Given the description of an element on the screen output the (x, y) to click on. 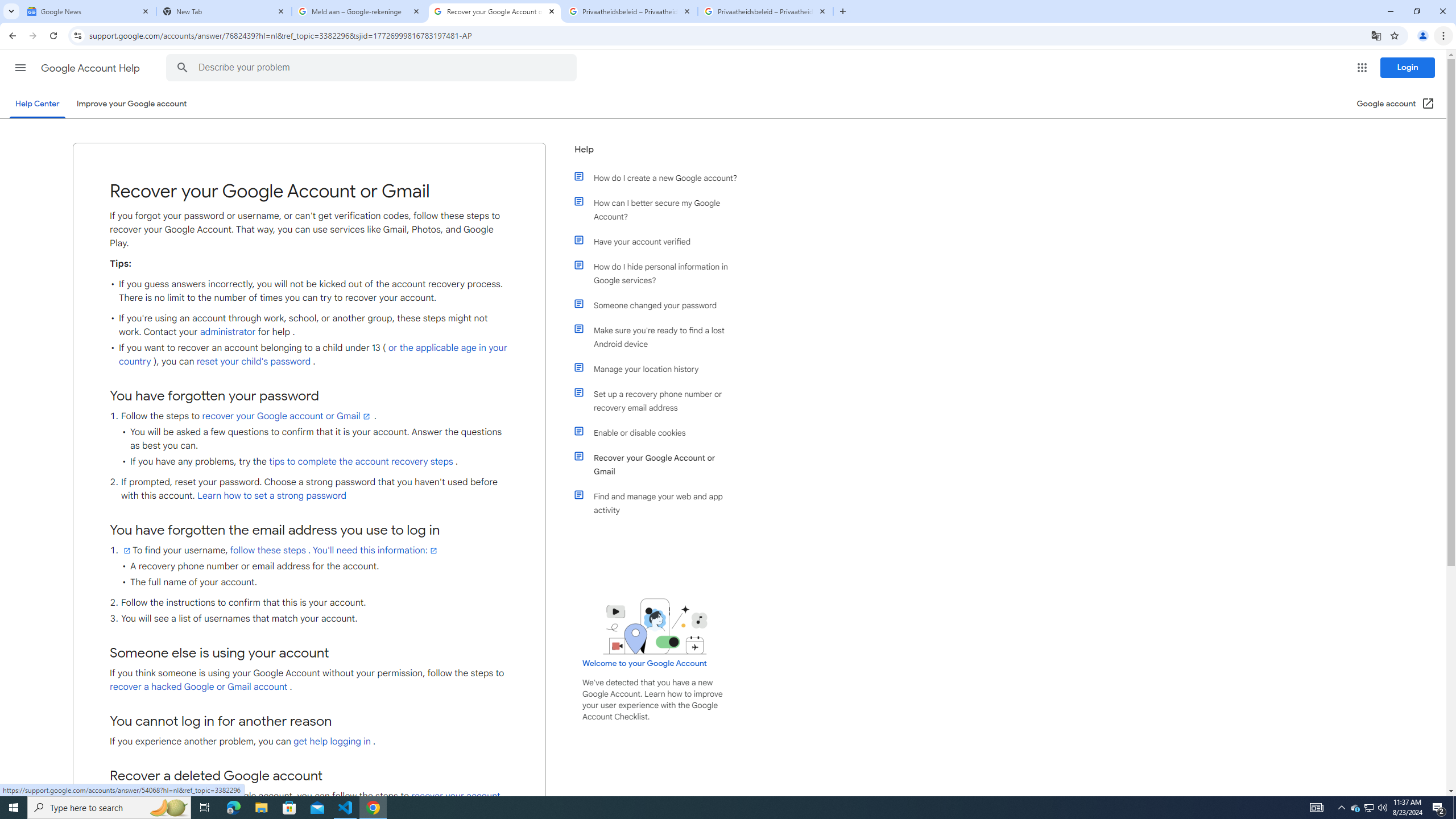
Someone changed your password (661, 305)
recover a hacked Google or Gmail account (198, 686)
or the applicable age in your country (312, 354)
Describe your problem (373, 67)
Learning Center home page image (655, 626)
tips to complete the account recovery steps (360, 461)
Search the Help Center (181, 67)
Welcome to your Google Account (644, 662)
